Given the description of an element on the screen output the (x, y) to click on. 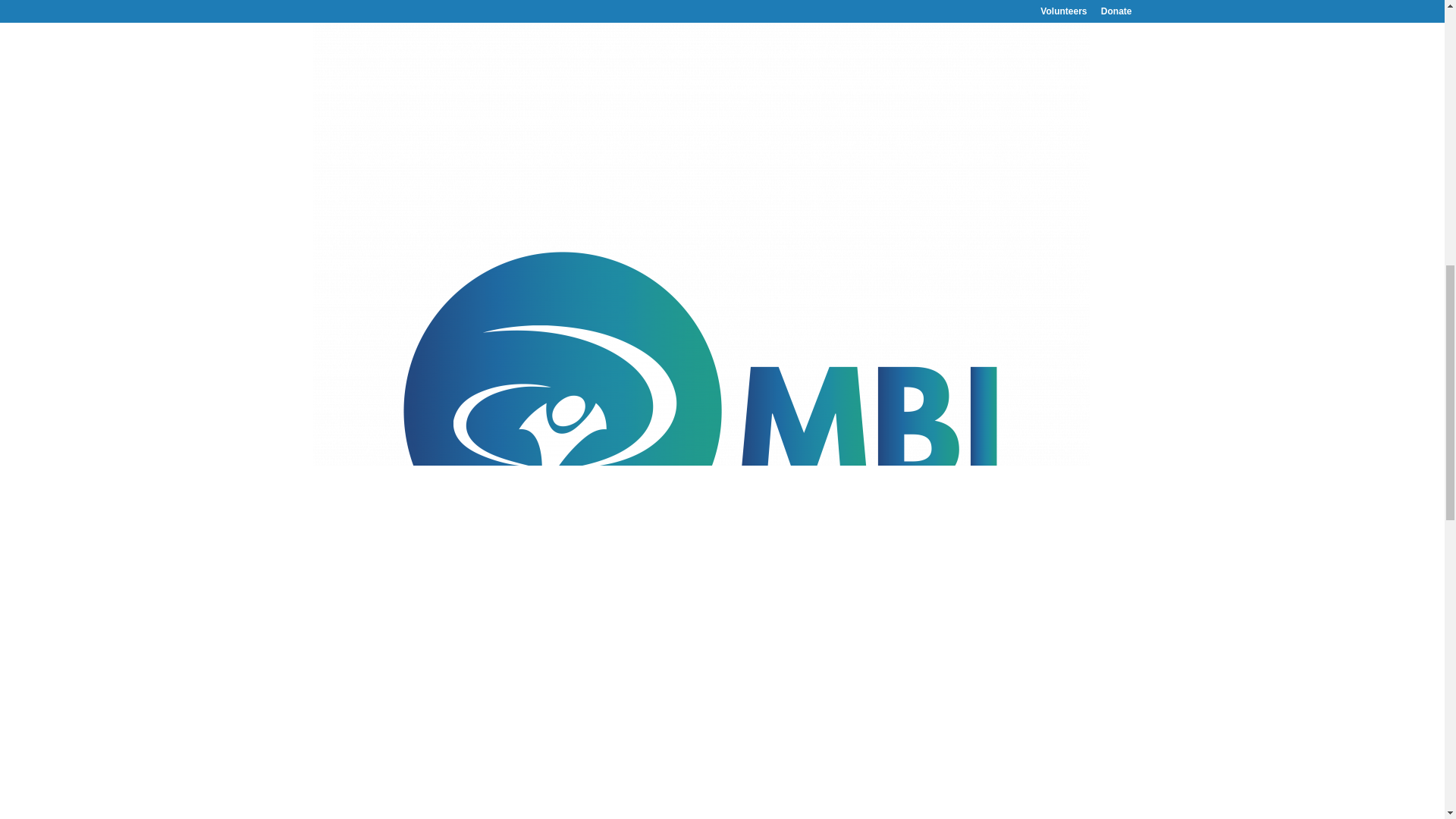
How It Works (756, 22)
June 2023 (1008, 28)
Contact Us (1017, 22)
Donate (1082, 22)
After DTS (946, 22)
August 2023 (1013, 5)
Explore (676, 22)
More Options (859, 22)
March 2023 (1011, 51)
